Given the description of an element on the screen output the (x, y) to click on. 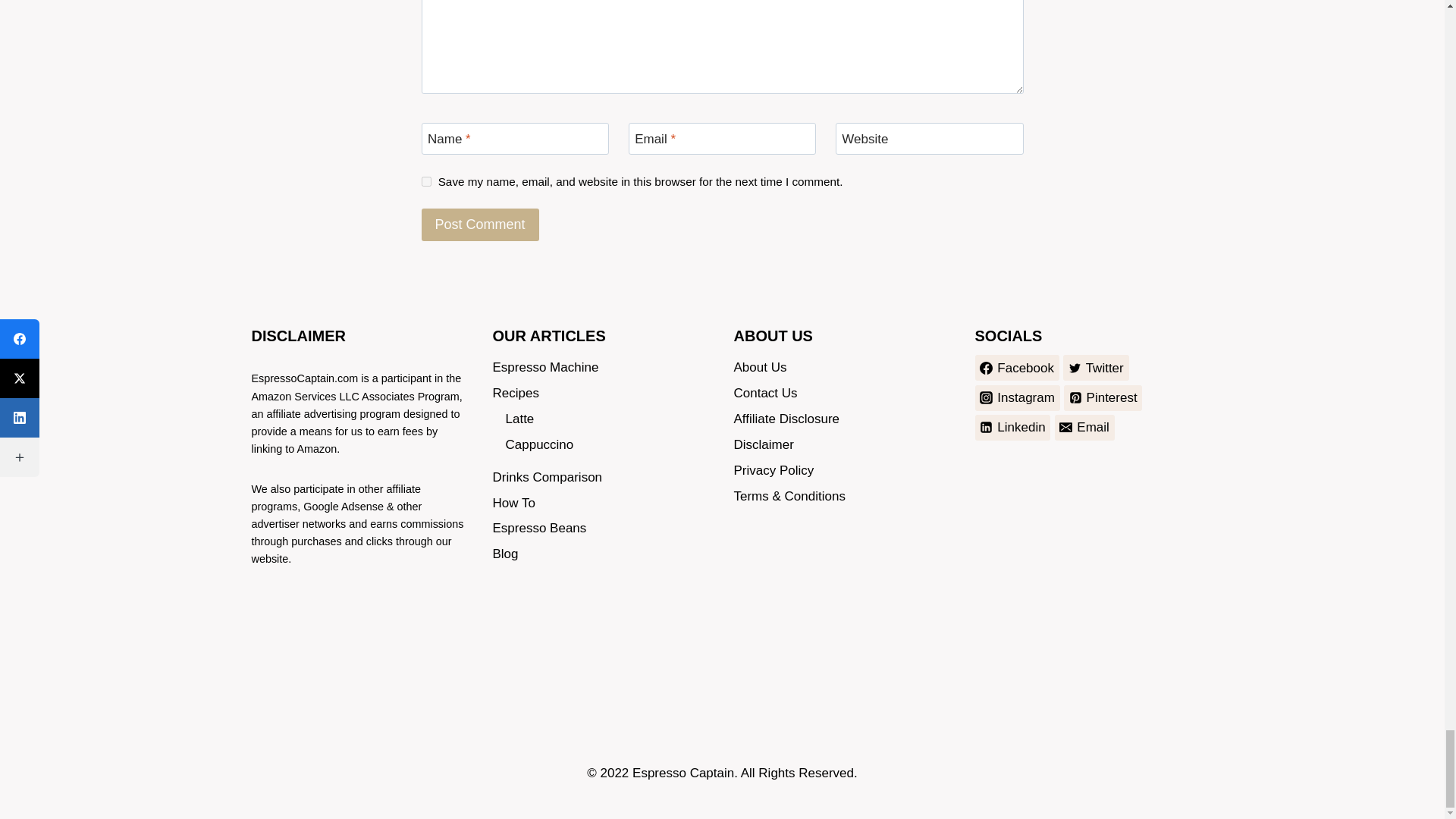
DMCA.com Protection Status (360, 647)
yes (426, 181)
Post Comment (480, 224)
